Given the description of an element on the screen output the (x, y) to click on. 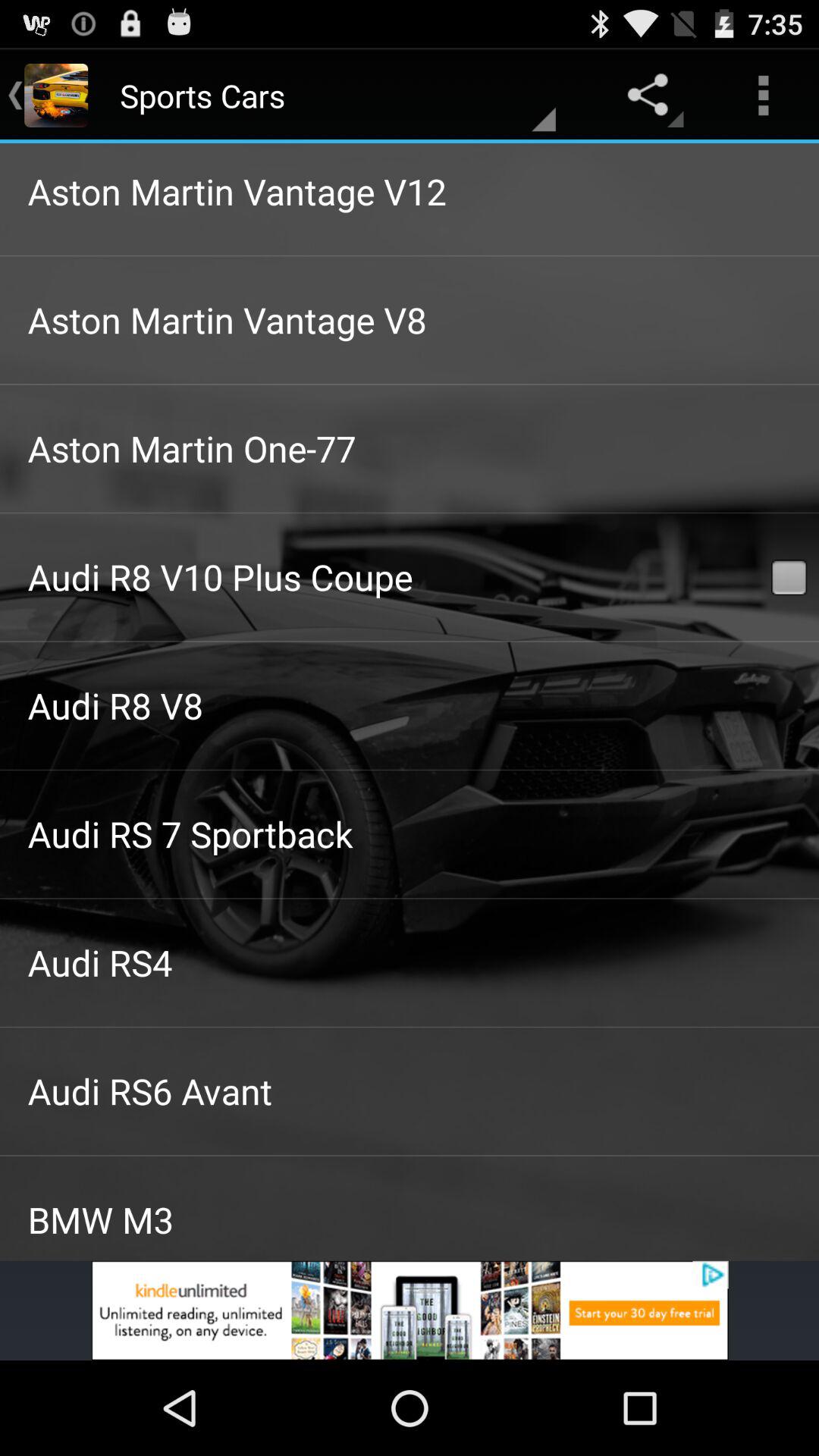
open advertisement (409, 1310)
